Given the description of an element on the screen output the (x, y) to click on. 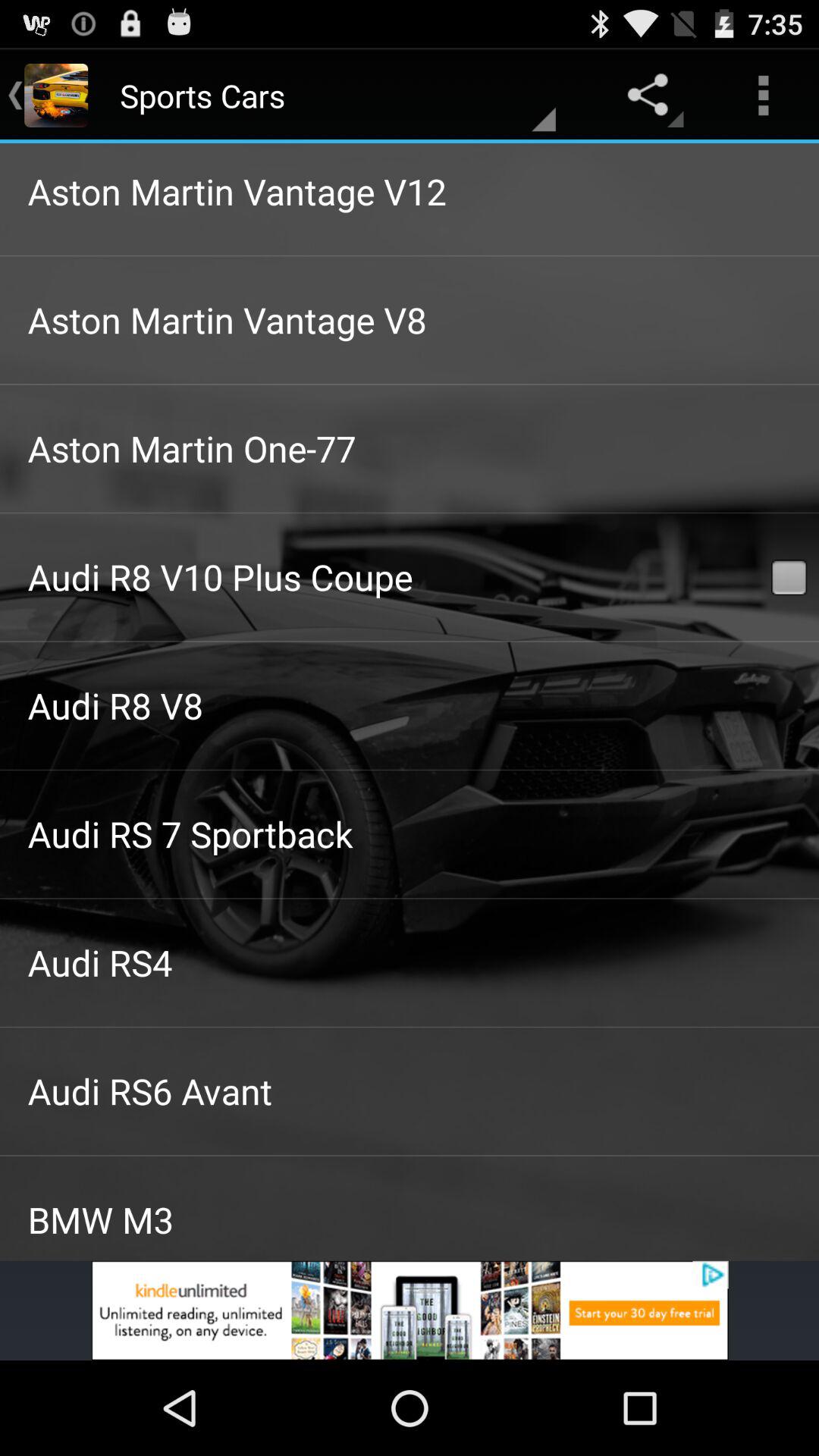
open advertisement (409, 1310)
